Given the description of an element on the screen output the (x, y) to click on. 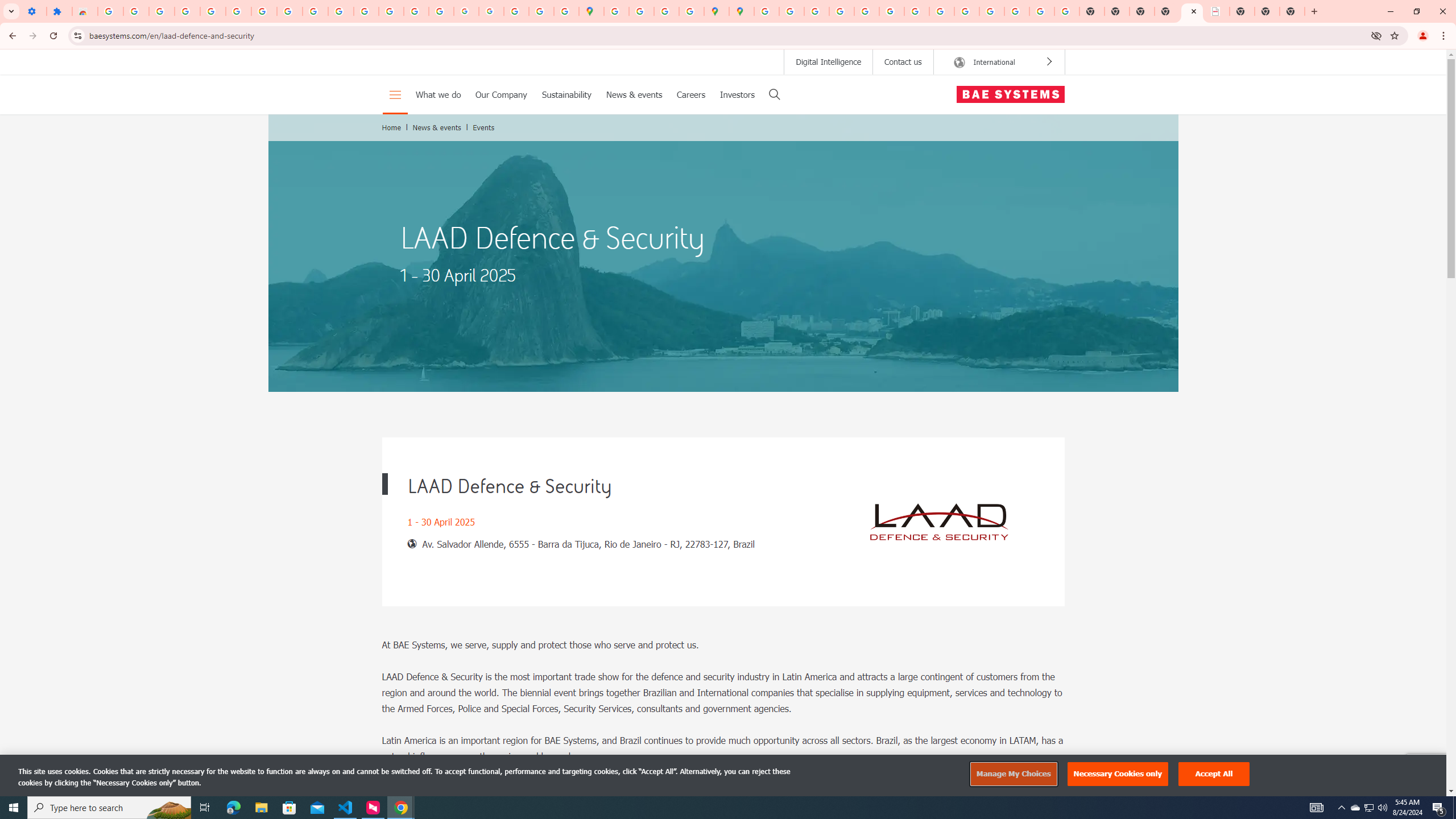
A view over Rio de Janeiro (722, 252)
New Tab (1166, 11)
Safety in Our Products - Google Safety Center (691, 11)
Google Images (1066, 11)
Extensions (59, 11)
Digital Intelligence (828, 61)
Accept All (1213, 774)
Home (391, 126)
Events (484, 126)
